Given the description of an element on the screen output the (x, y) to click on. 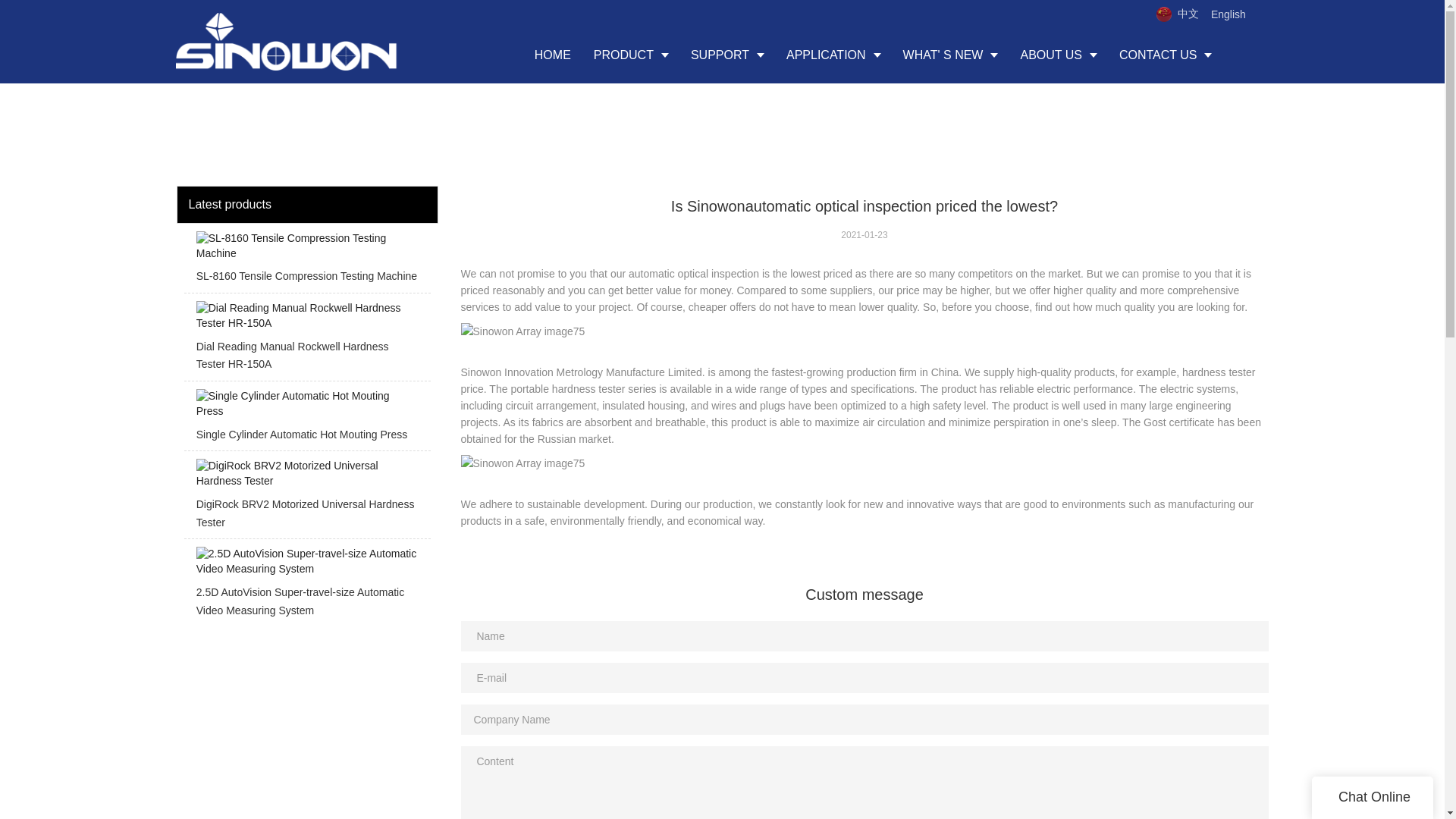
HOME (552, 55)
SUPPORT (726, 55)
PRODUCT (630, 55)
